Given the description of an element on the screen output the (x, y) to click on. 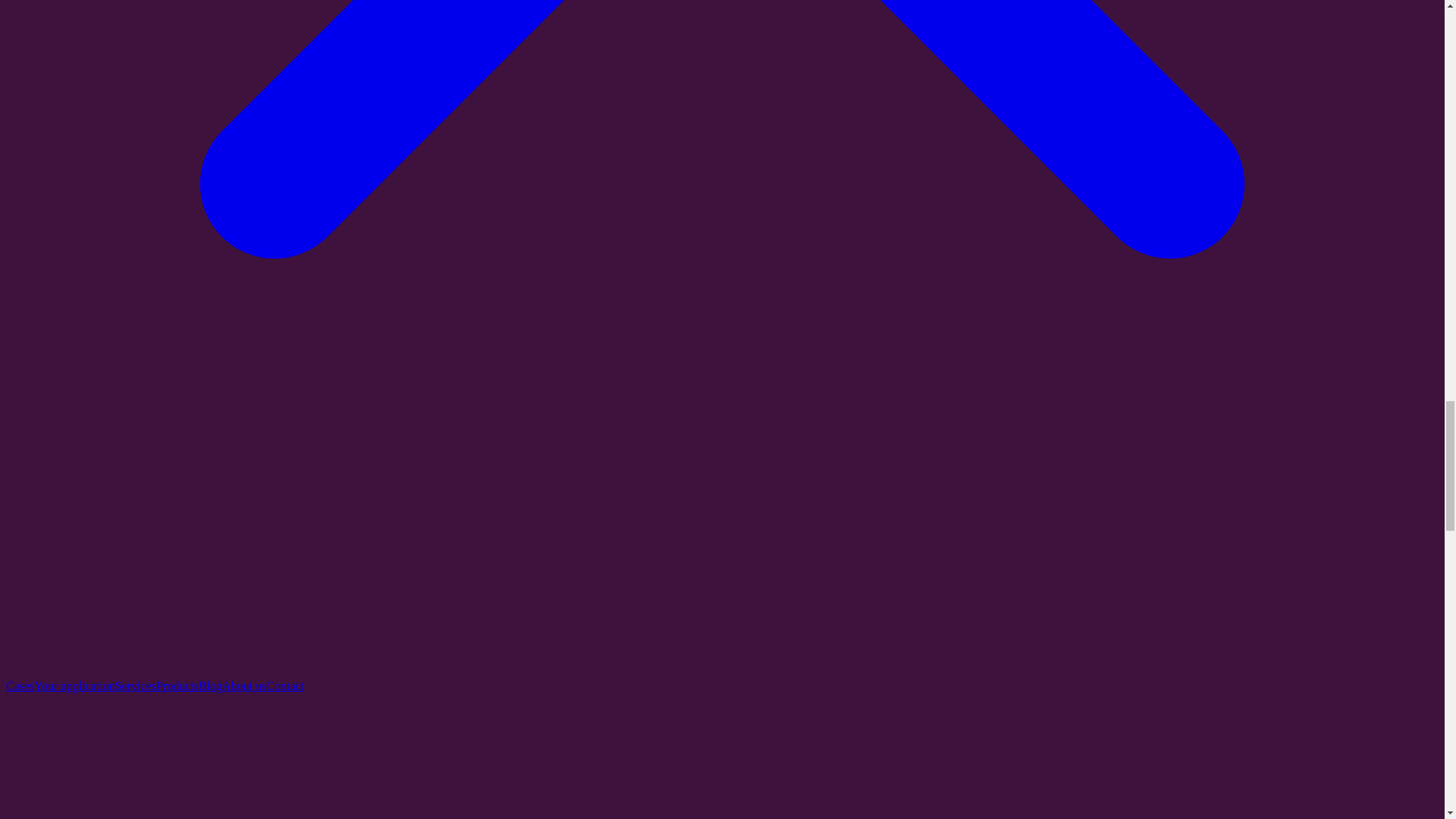
Services (135, 685)
Blog (210, 685)
Cases (19, 685)
Products (176, 685)
About us (244, 685)
Your application (74, 685)
Contact (285, 685)
